Given the description of an element on the screen output the (x, y) to click on. 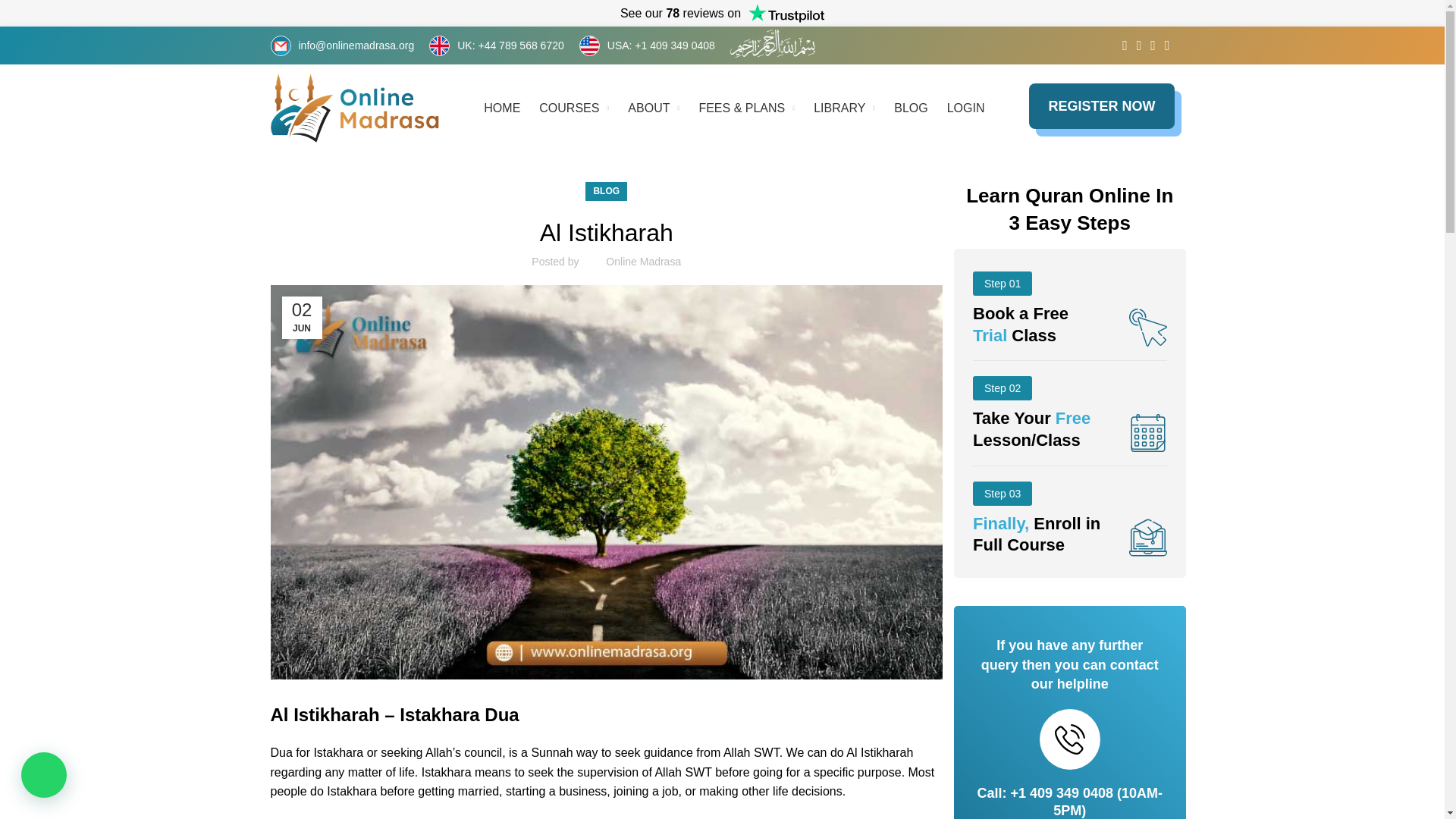
COURSES (573, 107)
ABOUT (653, 107)
HOME (501, 107)
LIBRARY (844, 107)
